Given the description of an element on the screen output the (x, y) to click on. 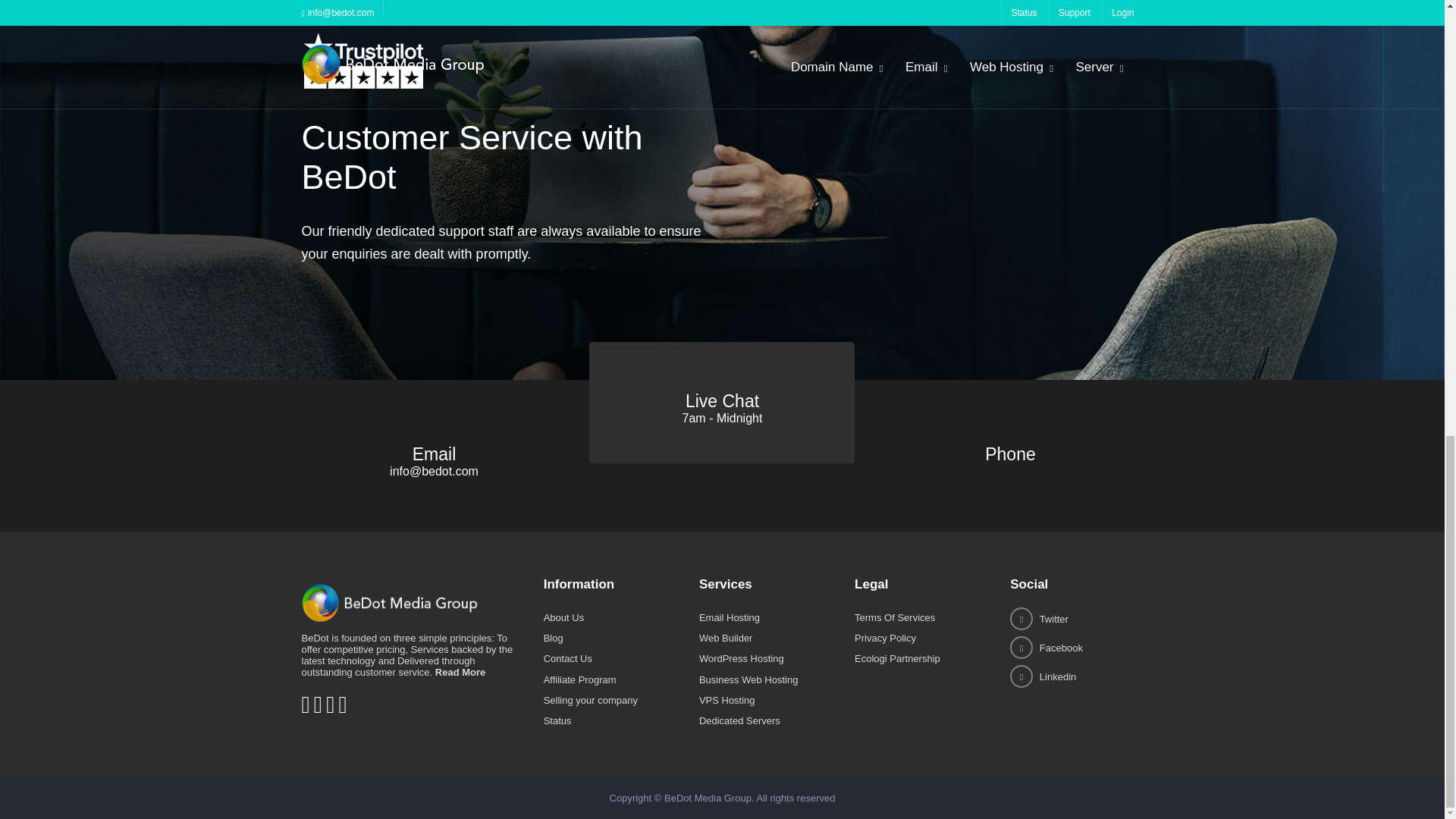
Selling your company (590, 699)
Affiliate Program (579, 679)
Read More (459, 672)
7am - Midnight (722, 418)
Contact Us (567, 658)
Blog (553, 637)
About Us (563, 617)
